Given the description of an element on the screen output the (x, y) to click on. 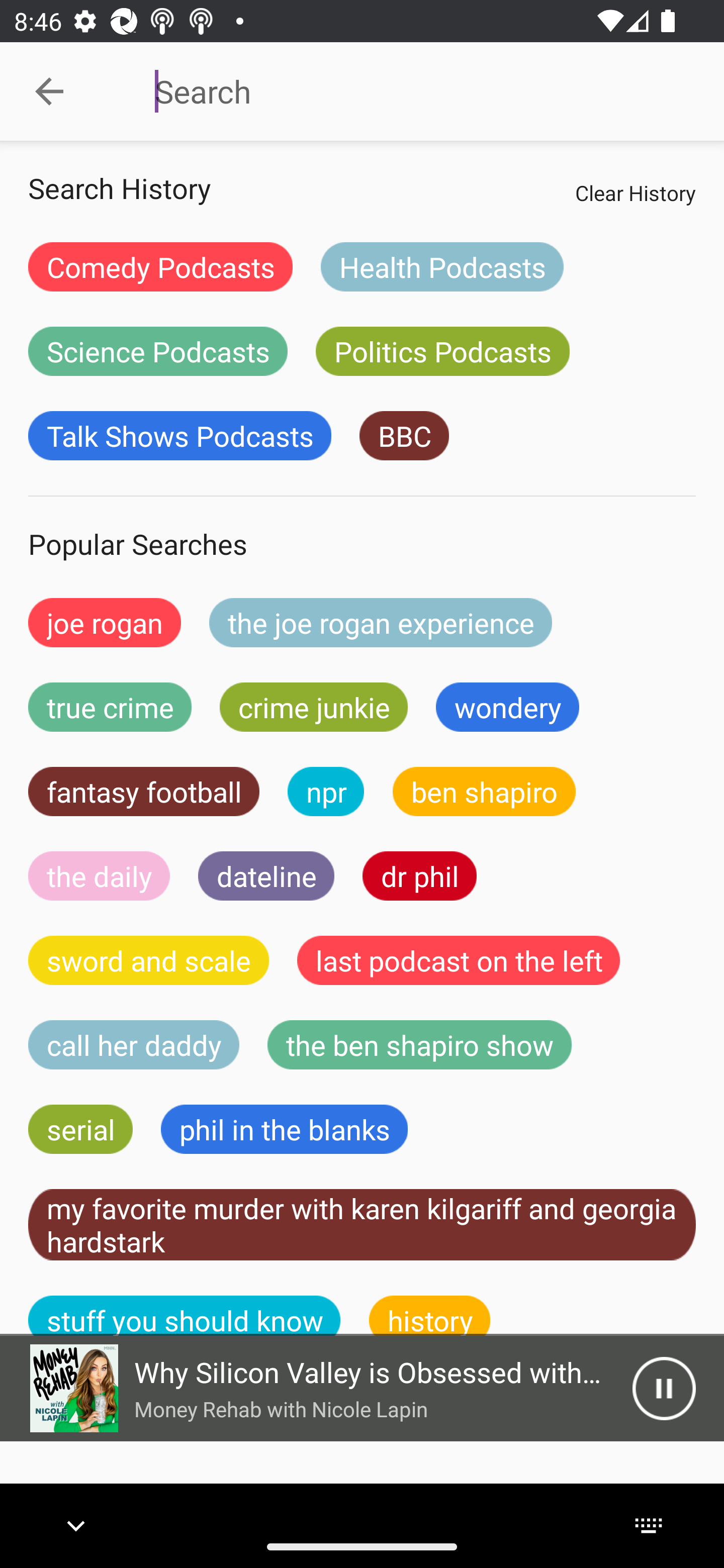
Collapse (49, 91)
Search (407, 91)
Clear History (634, 192)
Comedy Podcasts (160, 266)
Health Podcasts (441, 266)
Science Podcasts (157, 351)
Politics Podcasts (442, 351)
Talk Shows Podcasts (179, 435)
BBC (403, 435)
joe rogan (104, 622)
the joe rogan experience (380, 622)
true crime (109, 707)
crime junkie (313, 707)
wondery (507, 707)
fantasy football (143, 791)
npr (325, 791)
ben shapiro (483, 791)
the daily (99, 875)
dateline (266, 875)
dr phil (419, 875)
sword and scale (148, 960)
last podcast on the left (458, 960)
call her daddy (133, 1044)
the ben shapiro show (419, 1044)
serial (80, 1128)
phil in the blanks (283, 1128)
stuff you should know (184, 1315)
history (429, 1315)
Pause (663, 1388)
